Given the description of an element on the screen output the (x, y) to click on. 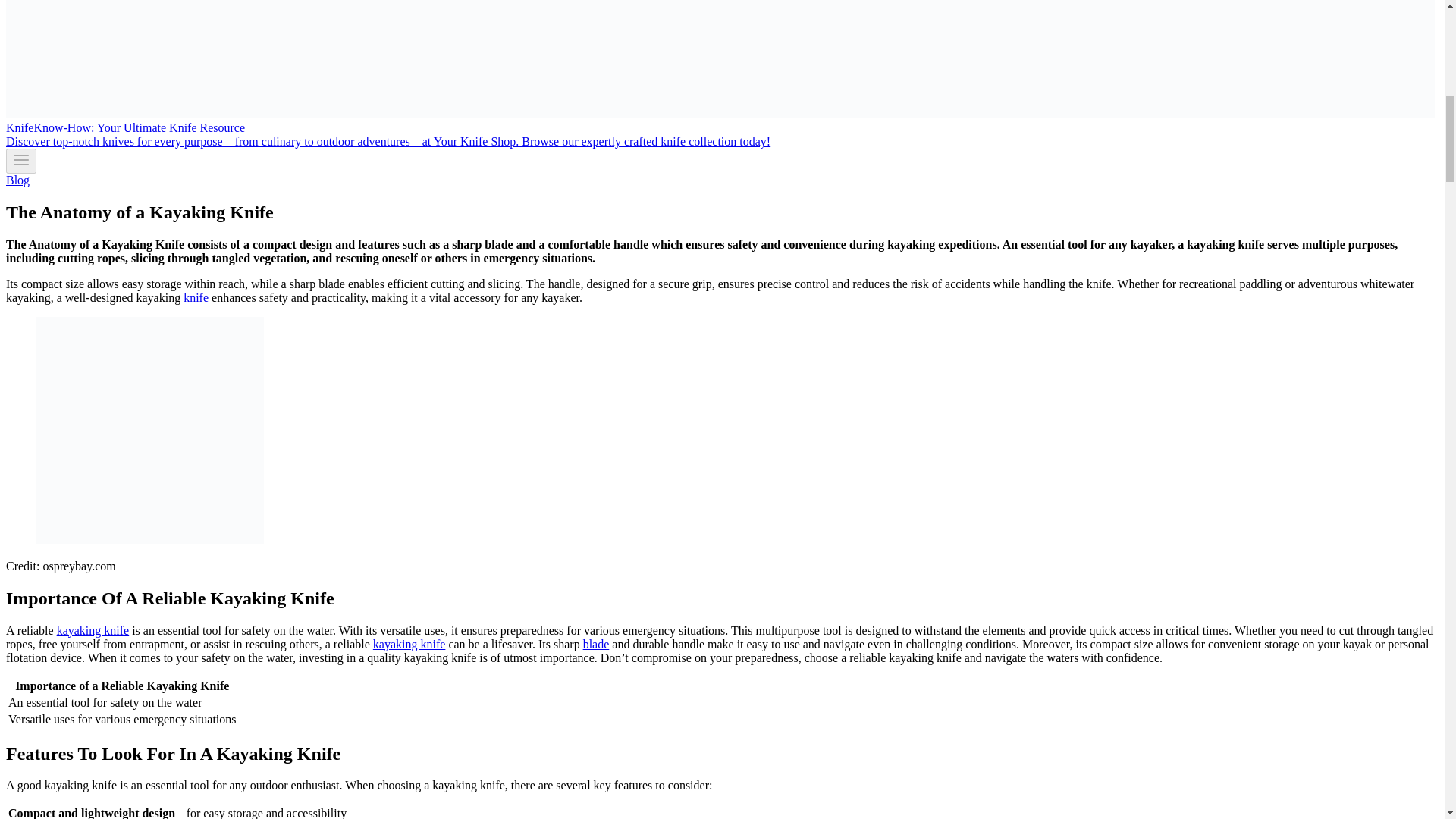
kayaking knife (408, 644)
kayaking knife (92, 630)
knife (195, 297)
blade (596, 644)
knife (195, 297)
Toggle Menu (20, 160)
Toggle Menu (20, 159)
Blog (17, 179)
blade (596, 644)
kayaking knife (92, 630)
